Given the description of an element on the screen output the (x, y) to click on. 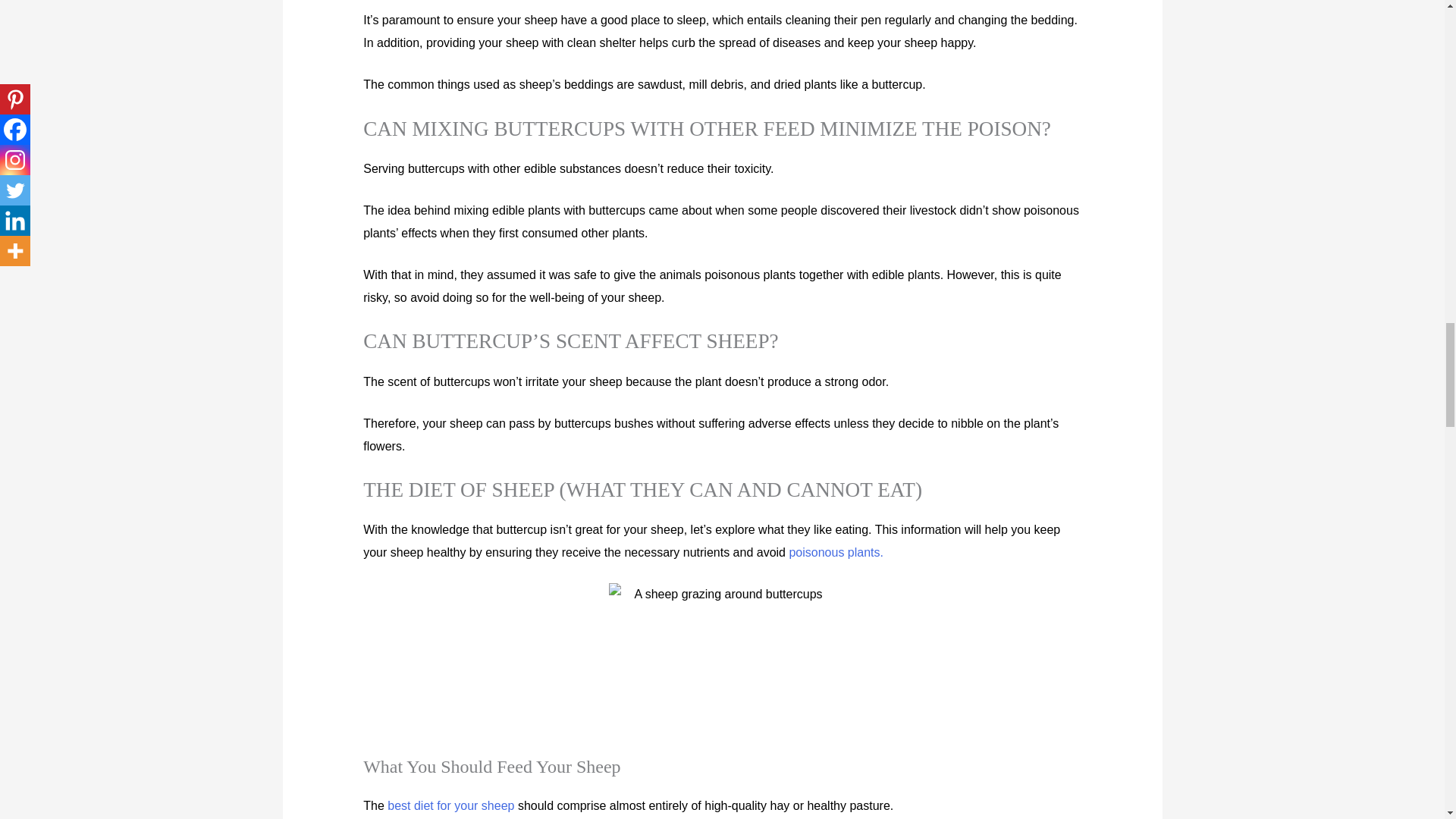
best diet for your sheep (450, 805)
poisonous plants. (836, 552)
